Given the description of an element on the screen output the (x, y) to click on. 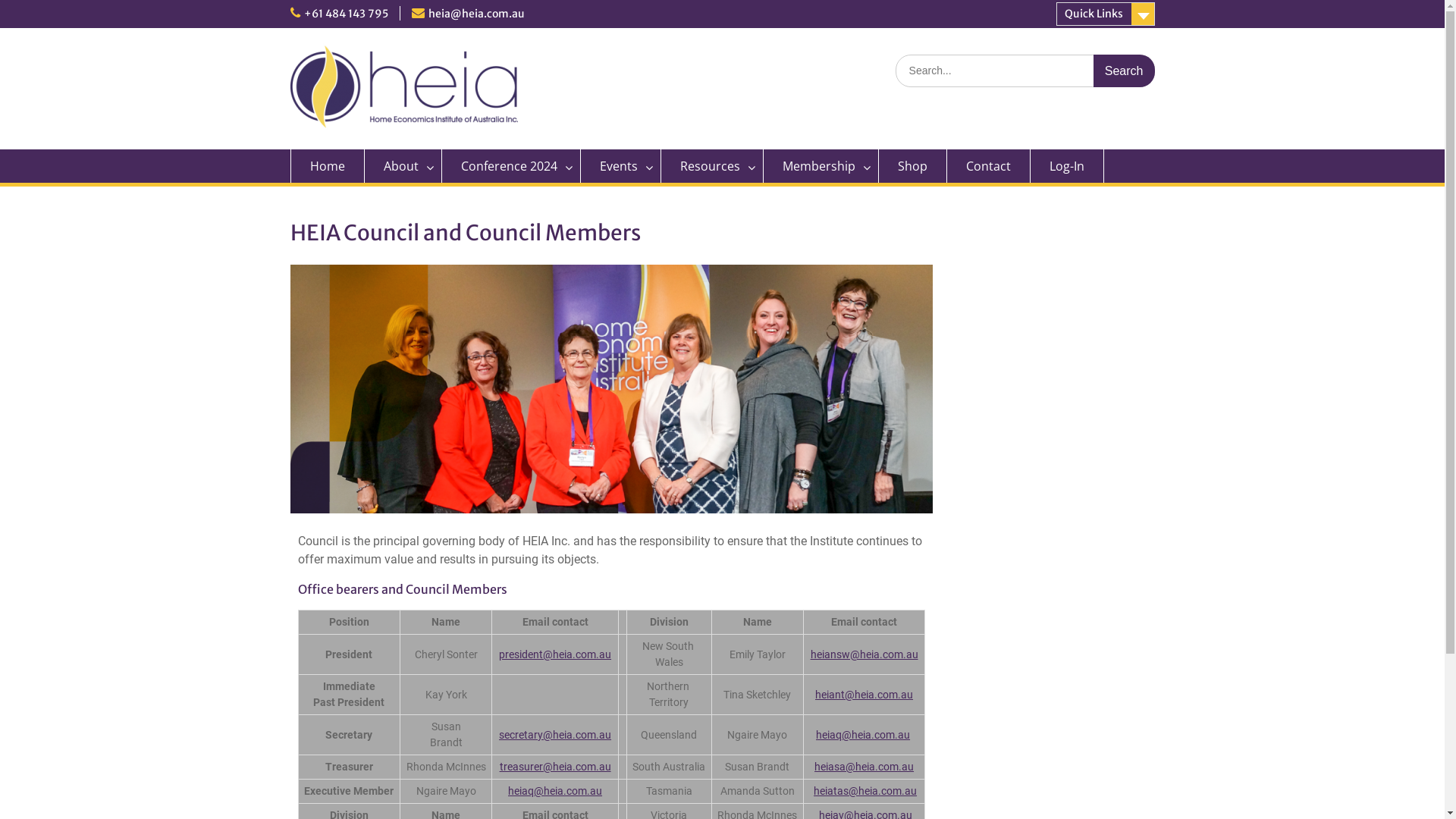
heiaq@heia.com.au Element type: text (862, 734)
Events Element type: text (620, 165)
Search for: Element type: hover (1024, 70)
secretary@heia.com.au Element type: text (554, 734)
Conference 2024 Element type: text (510, 165)
heiansw@heia.com.au Element type: text (864, 654)
heiatas@heia.com.au Element type: text (864, 790)
Log-In Element type: text (1066, 165)
president@heia.com.au Element type: text (554, 654)
Quick Links Element type: text (1104, 13)
Home Element type: text (326, 165)
heia@heia.com.au Element type: text (475, 13)
+61 484 143 795 Element type: text (345, 13)
heiant@heia.com.au Element type: text (864, 694)
Search Element type: text (1123, 70)
Resources Element type: text (712, 165)
Membership Element type: text (820, 165)
About Element type: text (402, 165)
heiasa@heia.com.au Element type: text (863, 766)
treasurer@heia.com.au Element type: text (555, 766)
heiaq@heia.com.au Element type: text (555, 790)
Shop Element type: text (912, 165)
Contact Element type: text (987, 165)
